Given the description of an element on the screen output the (x, y) to click on. 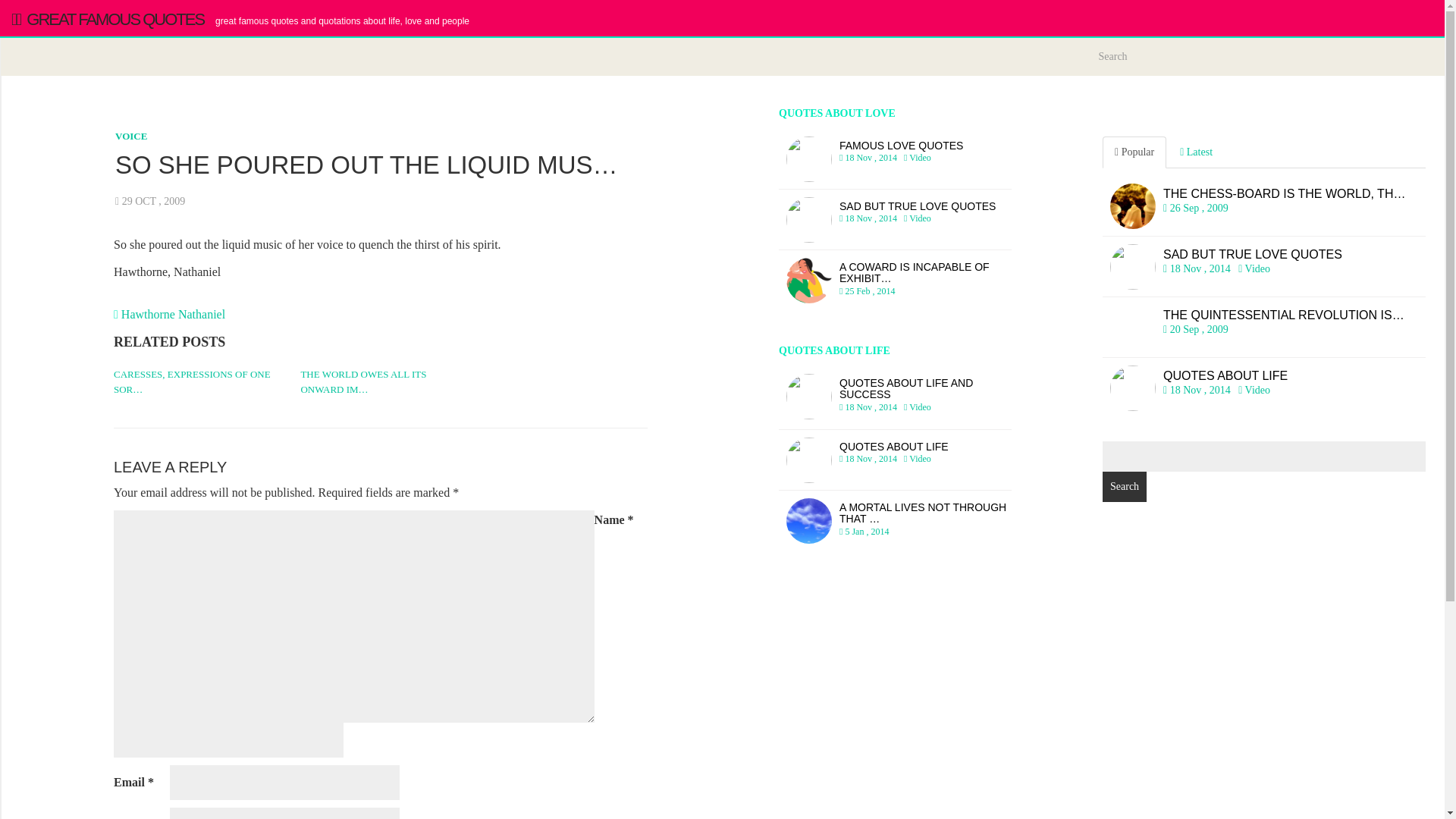
Popular (1134, 152)
VOICE (131, 135)
Latest (1195, 152)
Search (1124, 486)
  GREAT FAMOUS QUOTES (107, 18)
Hawthorne Nathaniel (1263, 387)
